Given the description of an element on the screen output the (x, y) to click on. 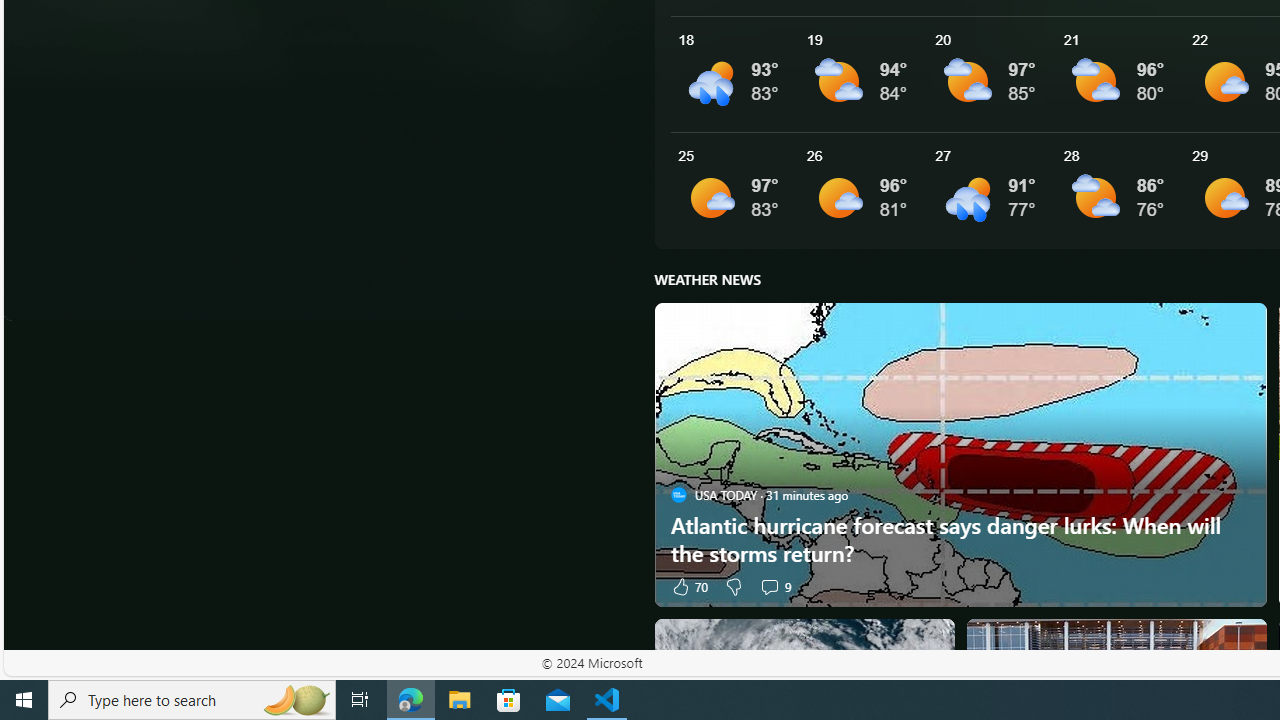
View comments 9 Comment (774, 586)
